Given the description of an element on the screen output the (x, y) to click on. 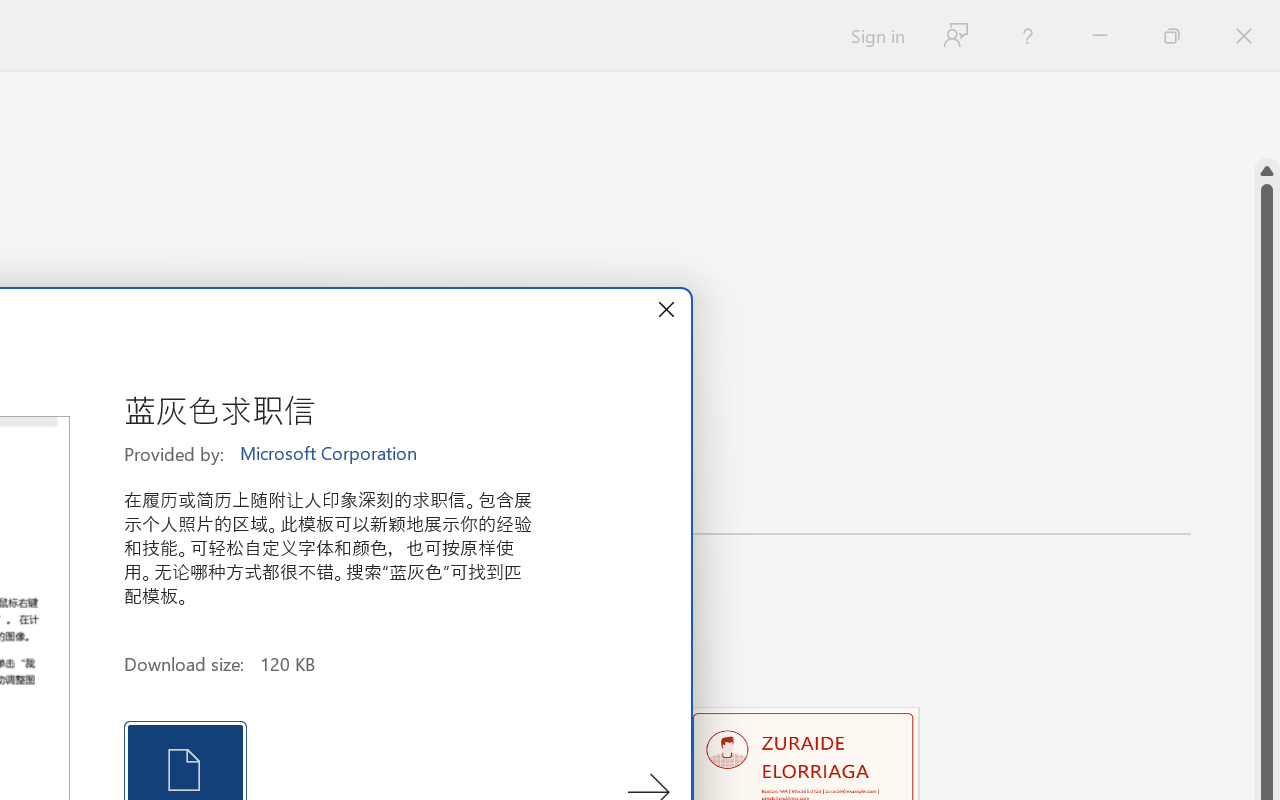
Sign in - Google Accounts (278, 22)
8 Ball Pool - Apps on Google Play (1005, 22)
